Given the description of an element on the screen output the (x, y) to click on. 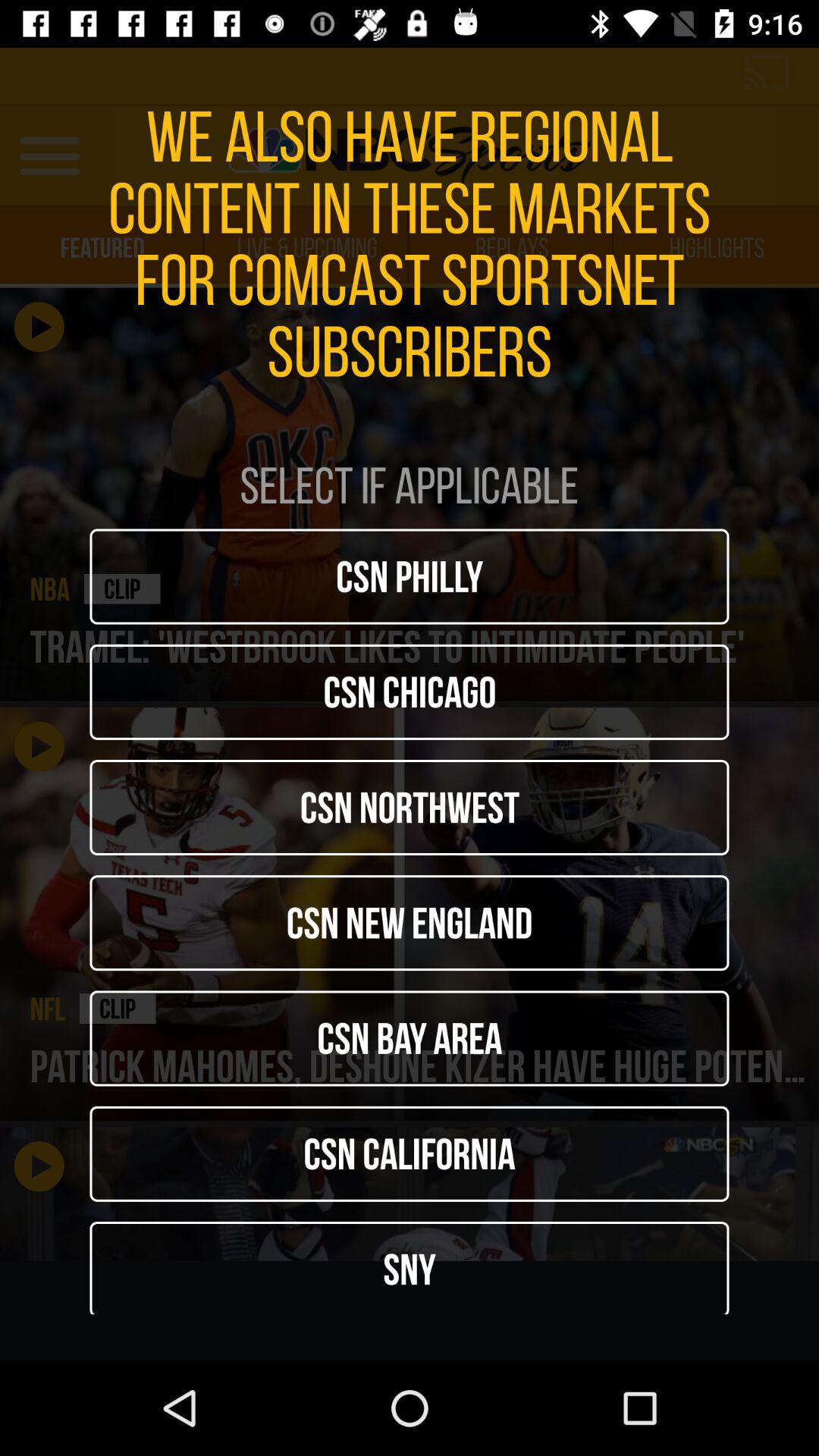
click the item below the csn new england icon (409, 1038)
